Given the description of an element on the screen output the (x, y) to click on. 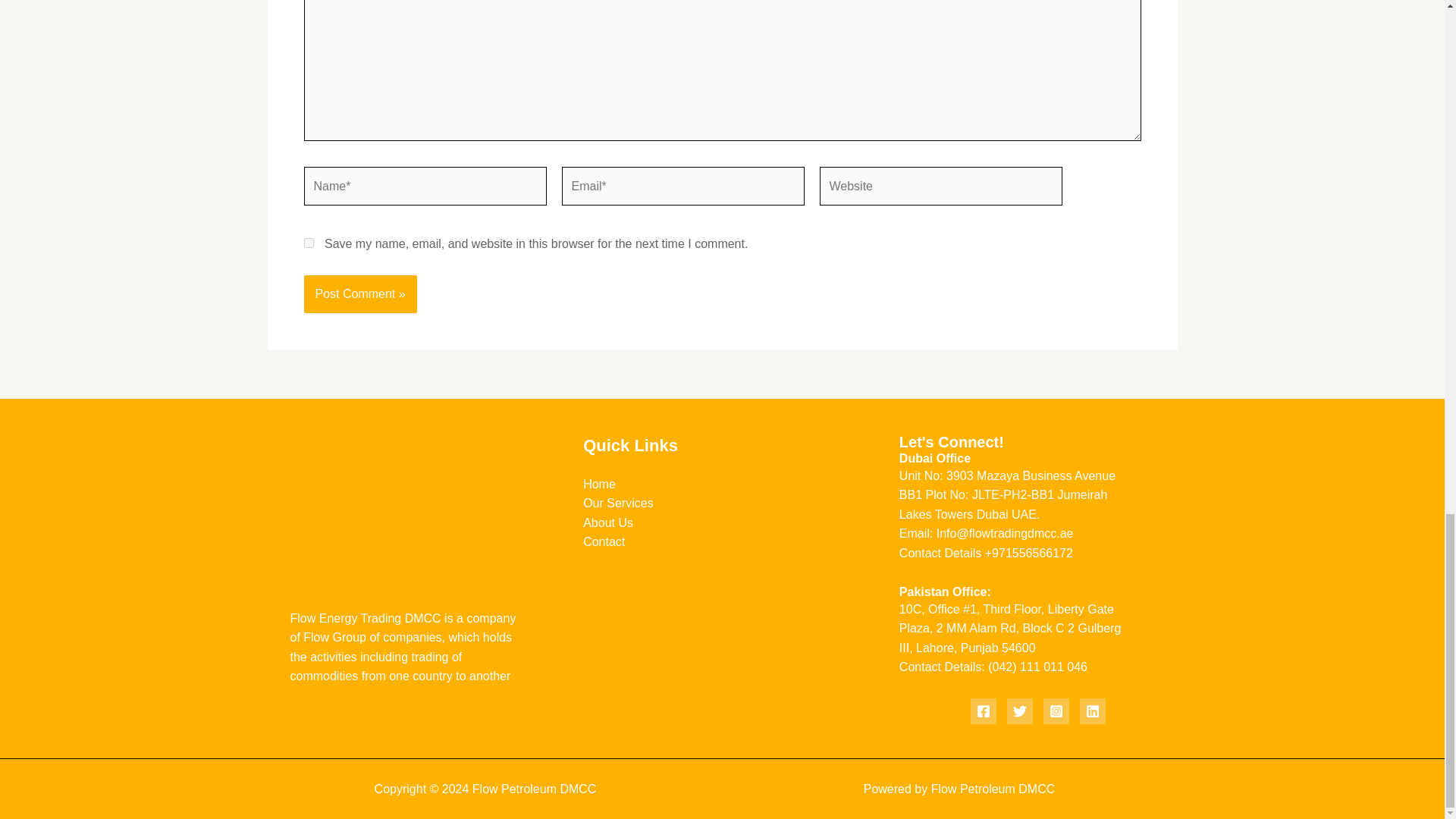
Contact (603, 541)
yes (307, 243)
Flow Petroleum DMCC (993, 788)
About Us (608, 522)
Our Services (617, 502)
Home (599, 483)
